Given the description of an element on the screen output the (x, y) to click on. 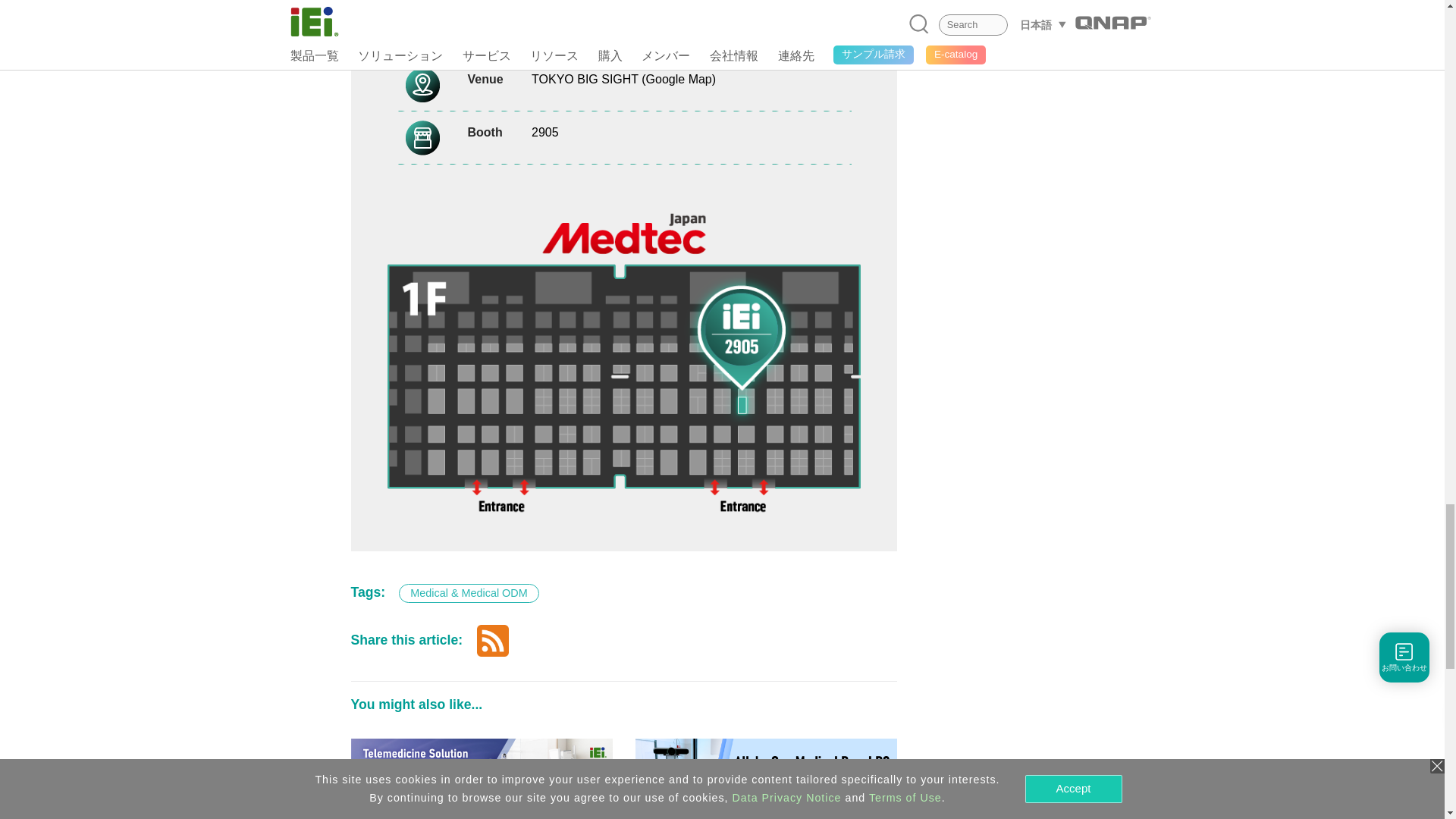
RSS (492, 639)
